Given the description of an element on the screen output the (x, y) to click on. 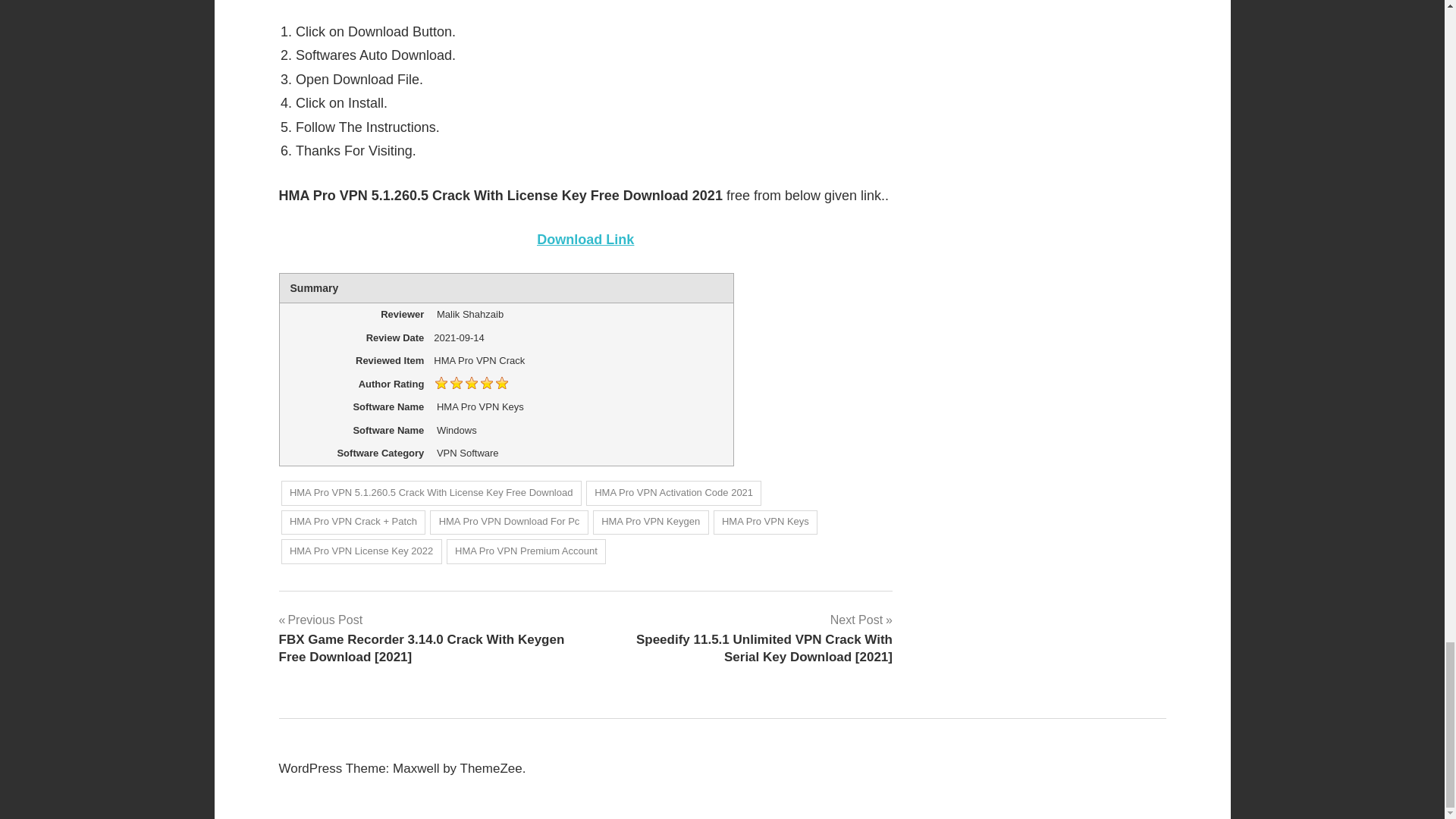
HMA Pro VPN 5.1.260.5 Crack With License Key Free Download (430, 493)
HMA Pro VPN Premium Account (526, 551)
Download Link (585, 239)
HMA Pro VPN Keys (765, 522)
HMA Pro VPN Activation Code 2021 (673, 493)
HMA Pro VPN Download For Pc (508, 522)
HMA Pro VPN License Key 2022 (361, 551)
HMA Pro VPN Keygen (650, 522)
